Given the description of an element on the screen output the (x, y) to click on. 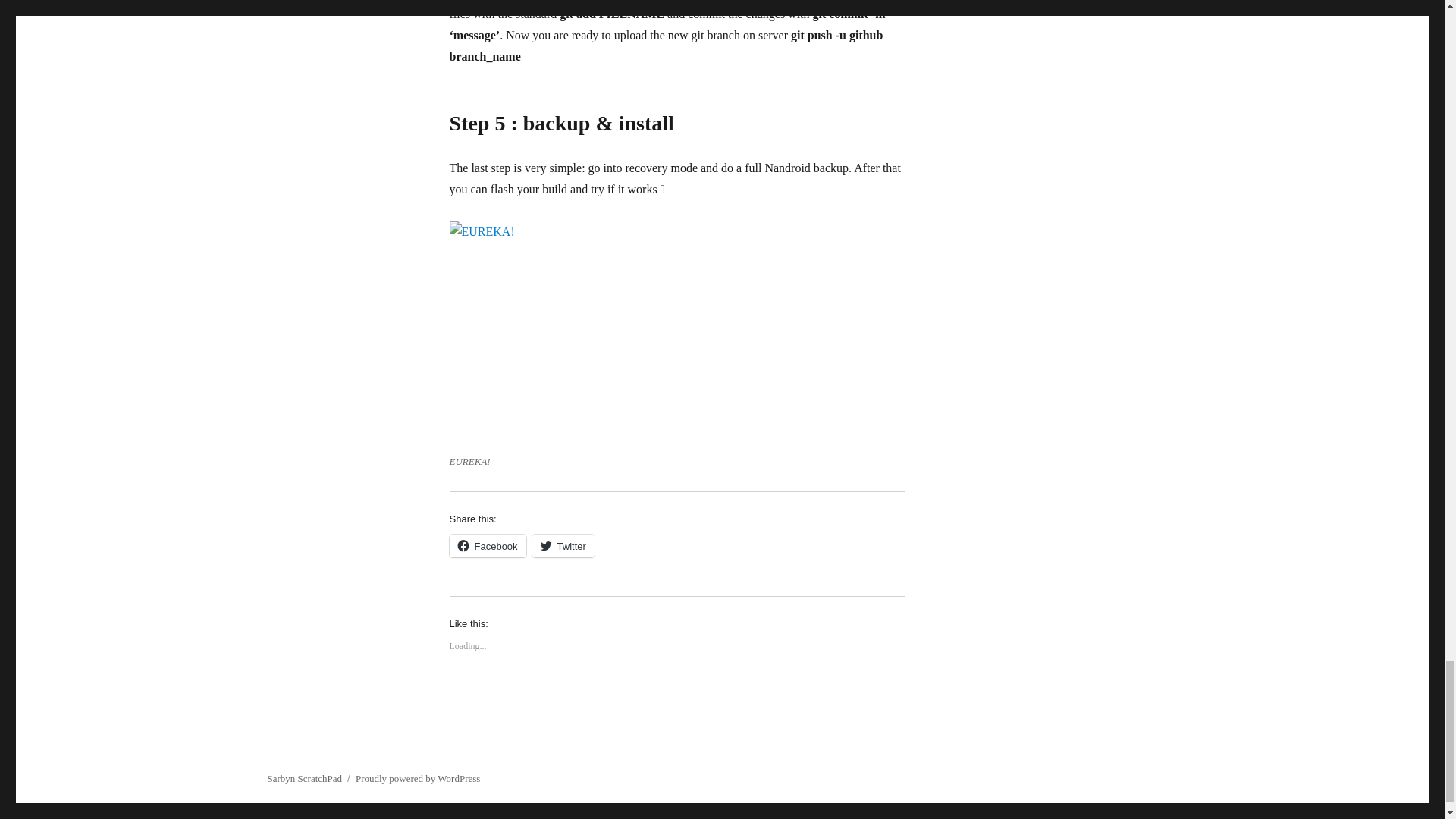
Twitter (563, 545)
Click to share on Twitter (563, 545)
Facebook (486, 545)
Click to share on Facebook (486, 545)
